Given the description of an element on the screen output the (x, y) to click on. 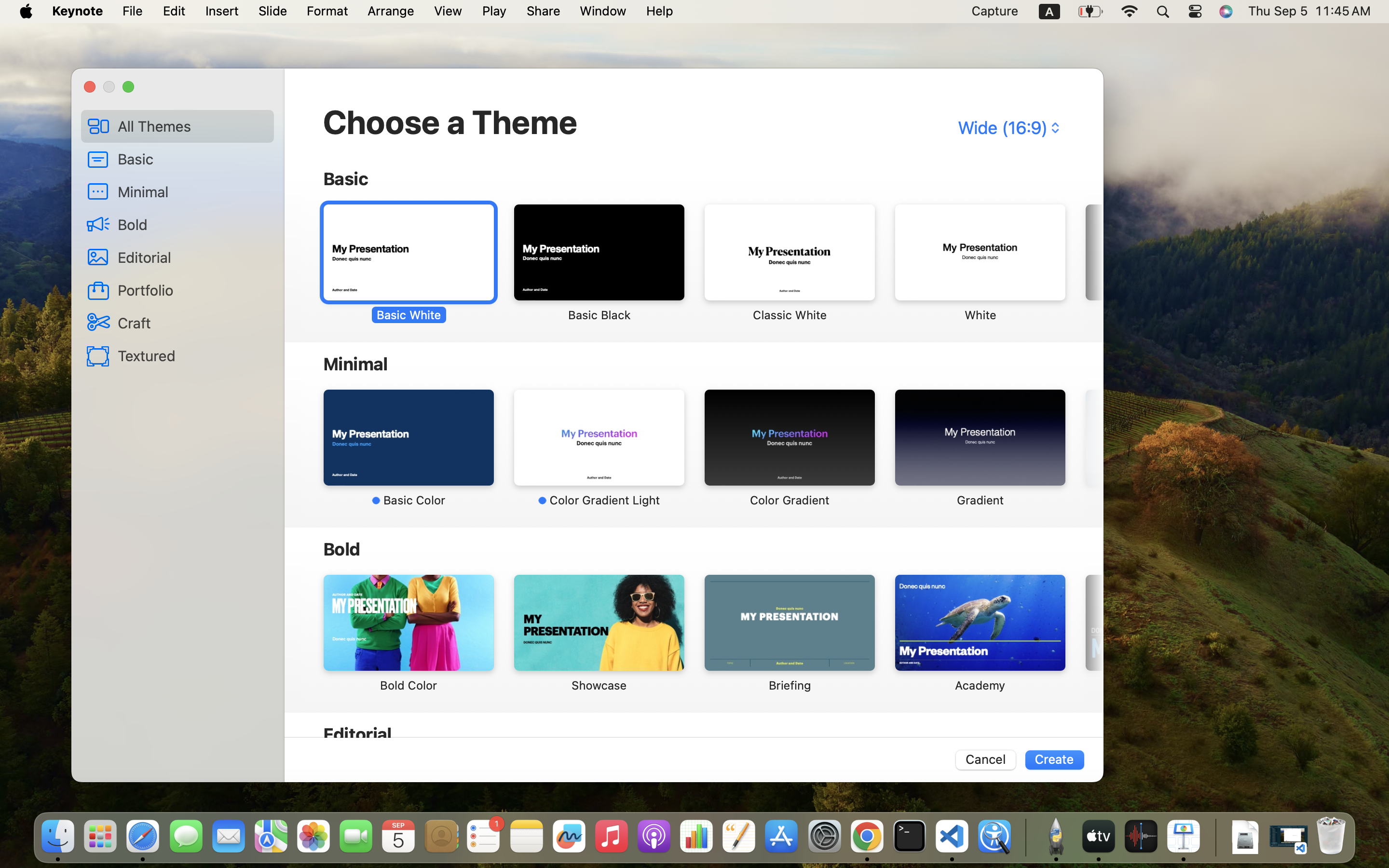
Basic Element type: AXStaticText (191, 158)
Choose a Theme Element type: AXStaticText (450, 121)
Minimal Element type: AXStaticText (191, 191)
Editorial Element type: AXStaticText (191, 256)
